Given the description of an element on the screen output the (x, y) to click on. 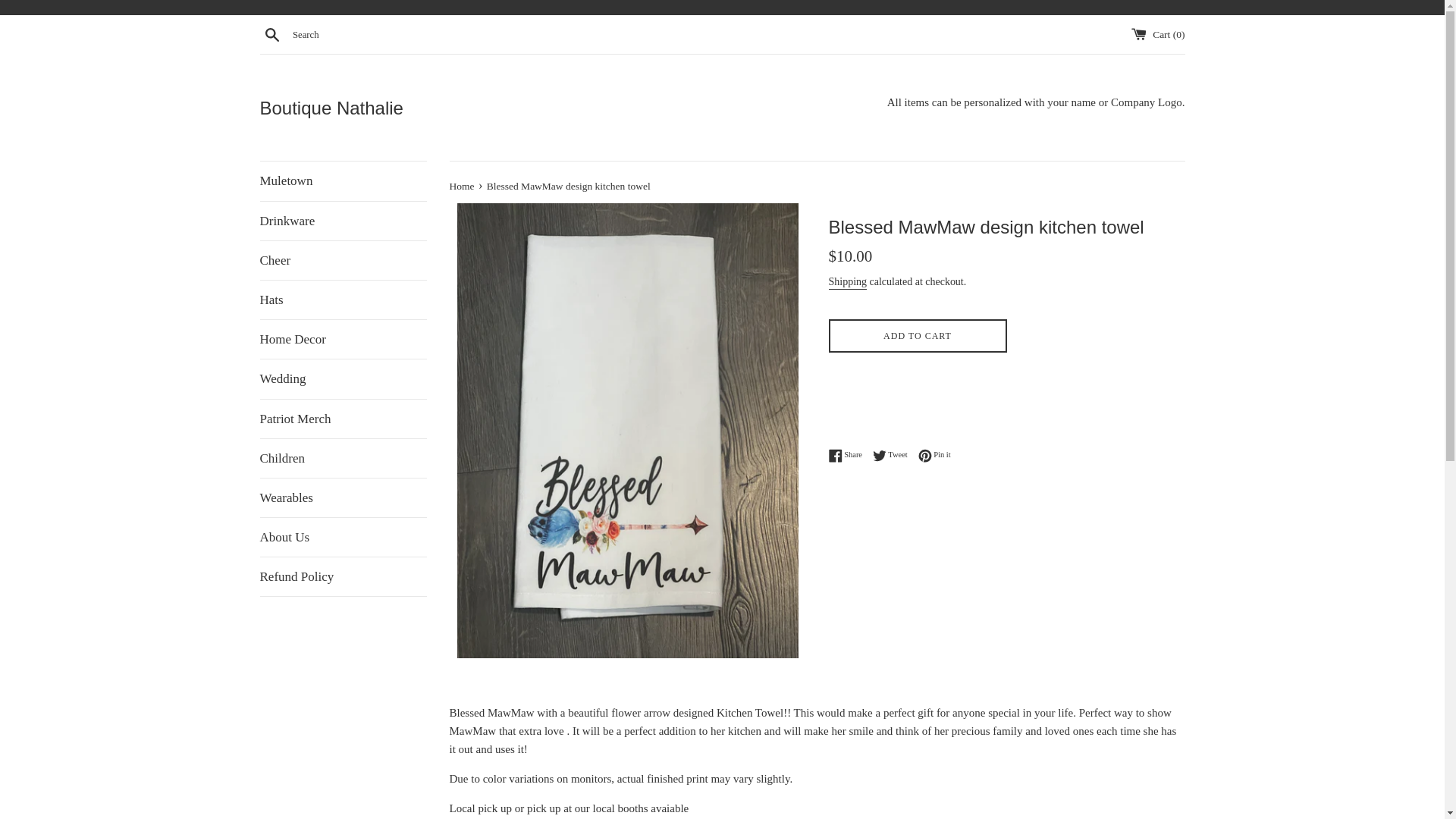
Pin on Pinterest (933, 455)
Shipping (847, 282)
Back to the frontpage (462, 185)
Refund Policy (342, 576)
ADD TO CART (917, 335)
Wearables (342, 497)
Children (342, 457)
Search (271, 34)
Tweet on Twitter (893, 455)
Drinkware (342, 220)
